Given the description of an element on the screen output the (x, y) to click on. 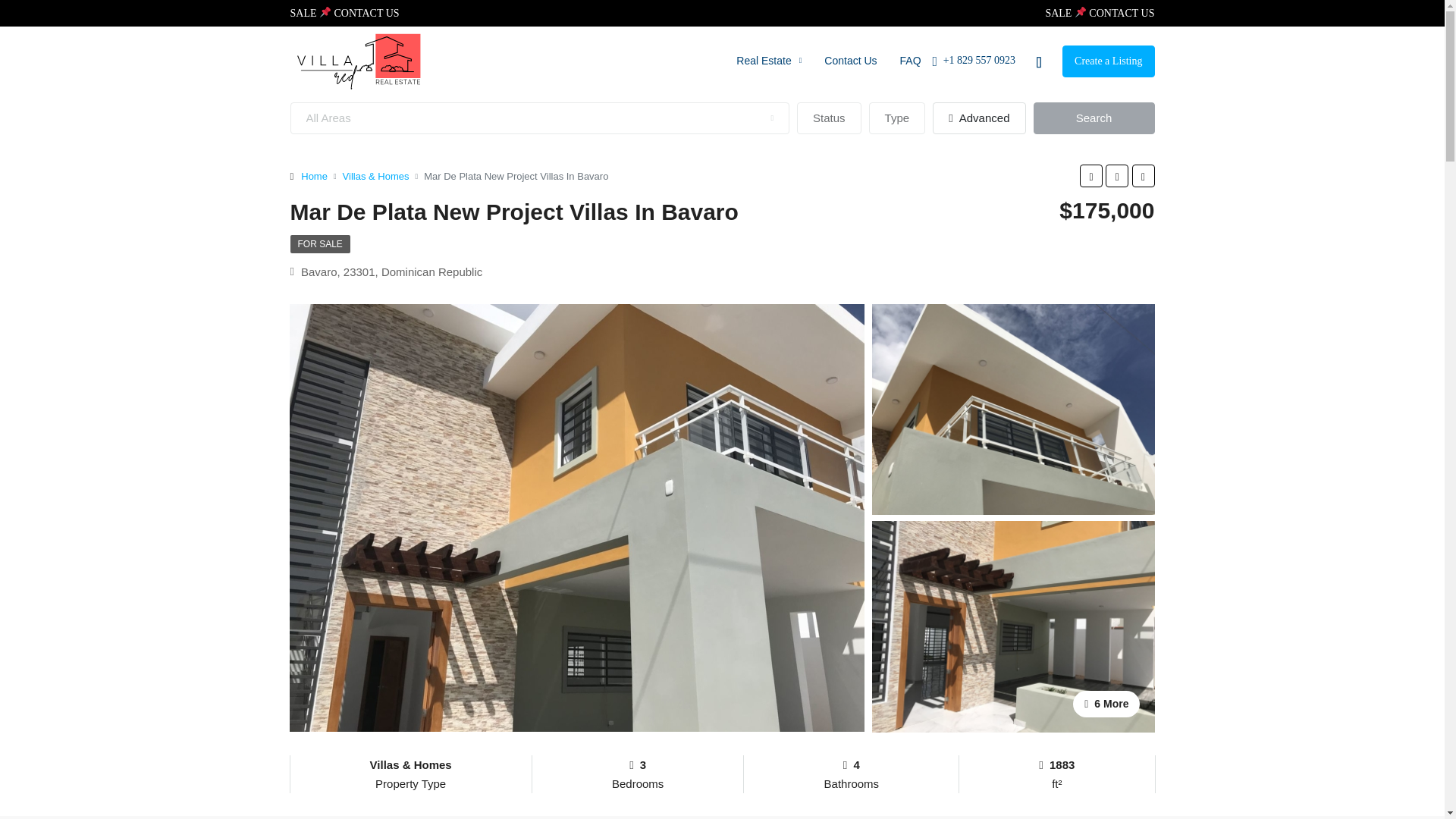
Contact Us (850, 60)
Status (828, 118)
All Areas (539, 118)
Create a Listing (1108, 60)
Type (897, 118)
All Areas (539, 118)
Search (1093, 118)
Advanced (979, 118)
Real Estate (768, 60)
